Given the description of an element on the screen output the (x, y) to click on. 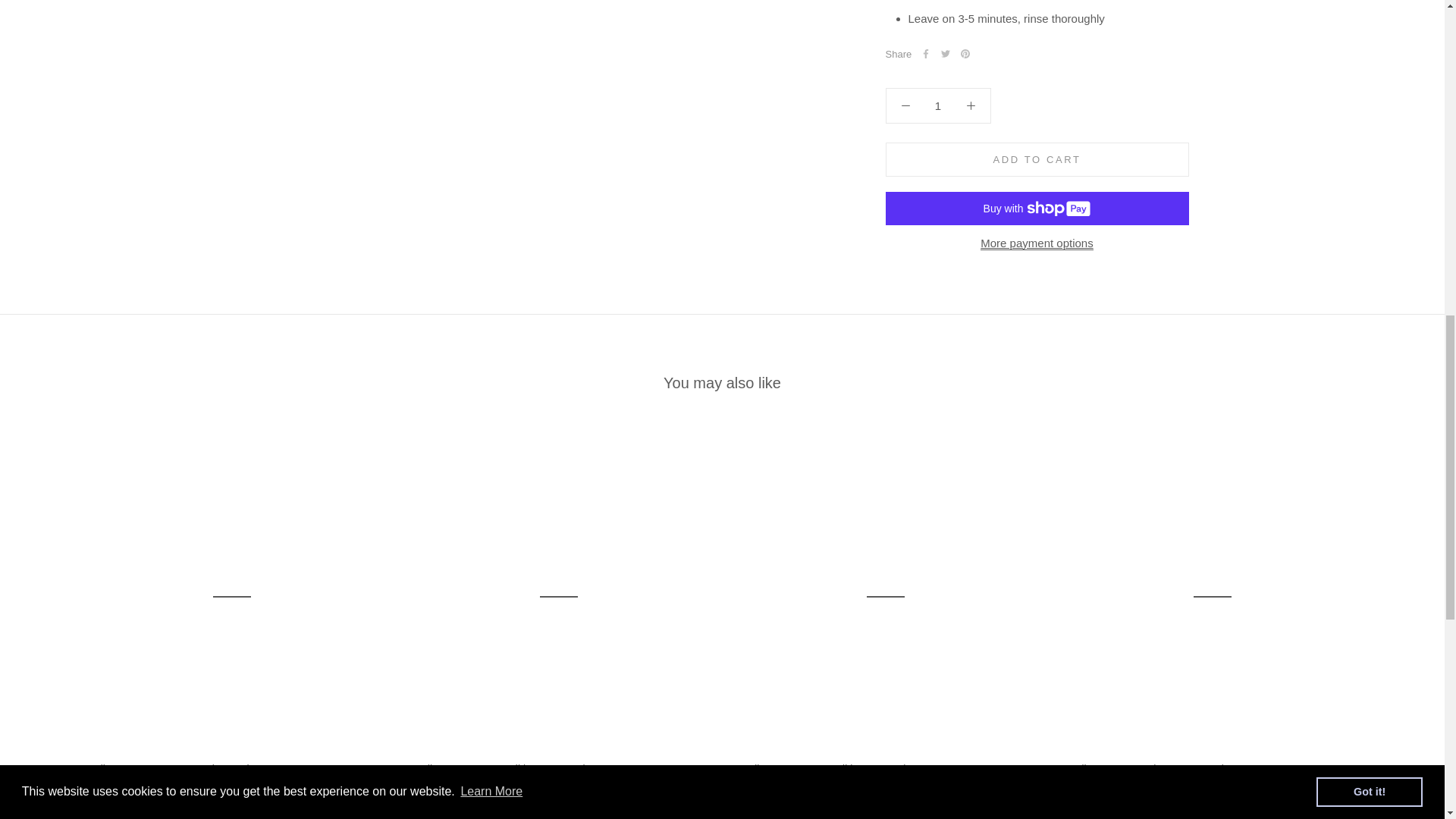
1 (938, 33)
